Given the description of an element on the screen output the (x, y) to click on. 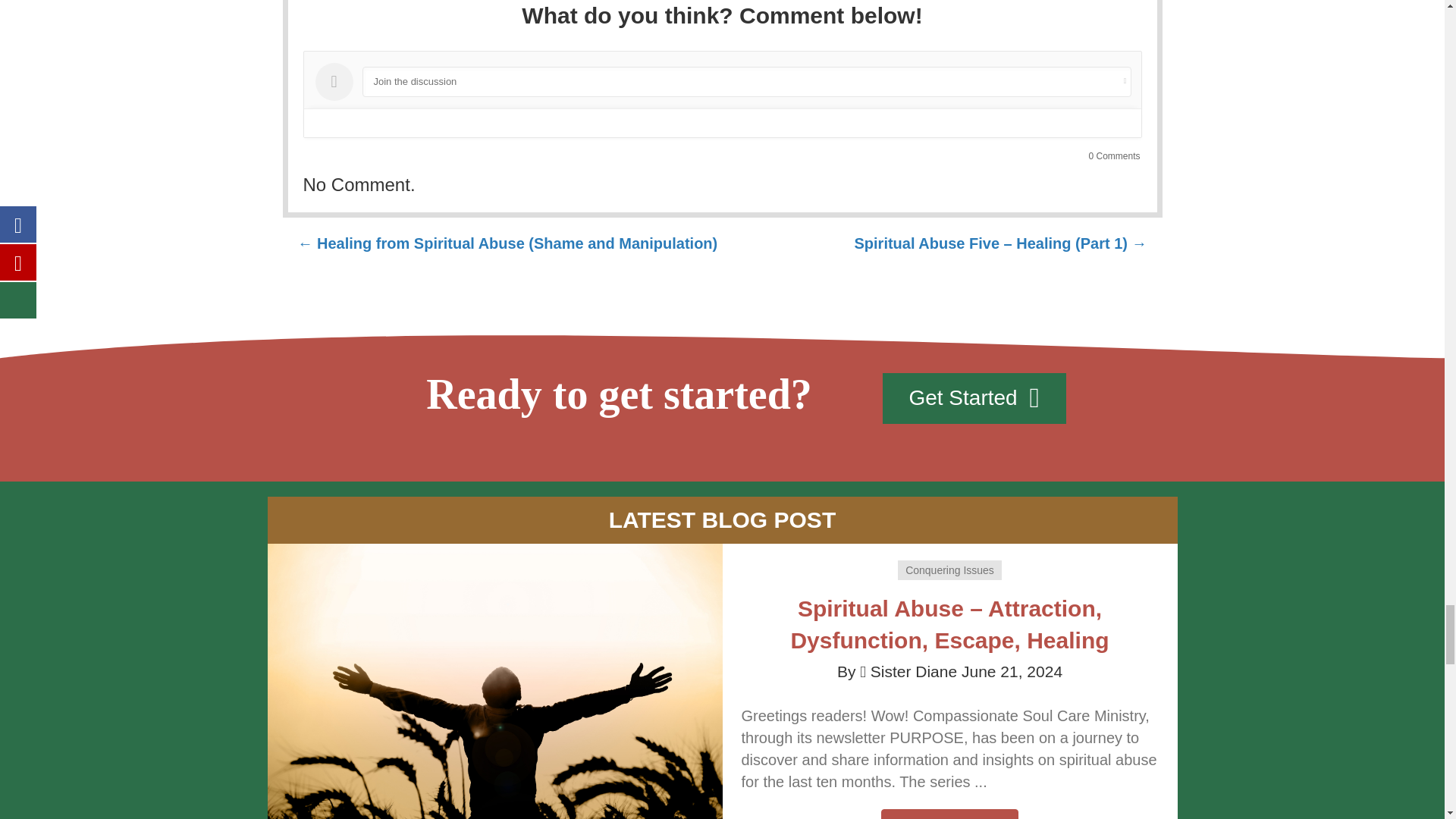
Click Here (948, 814)
